Given the description of an element on the screen output the (x, y) to click on. 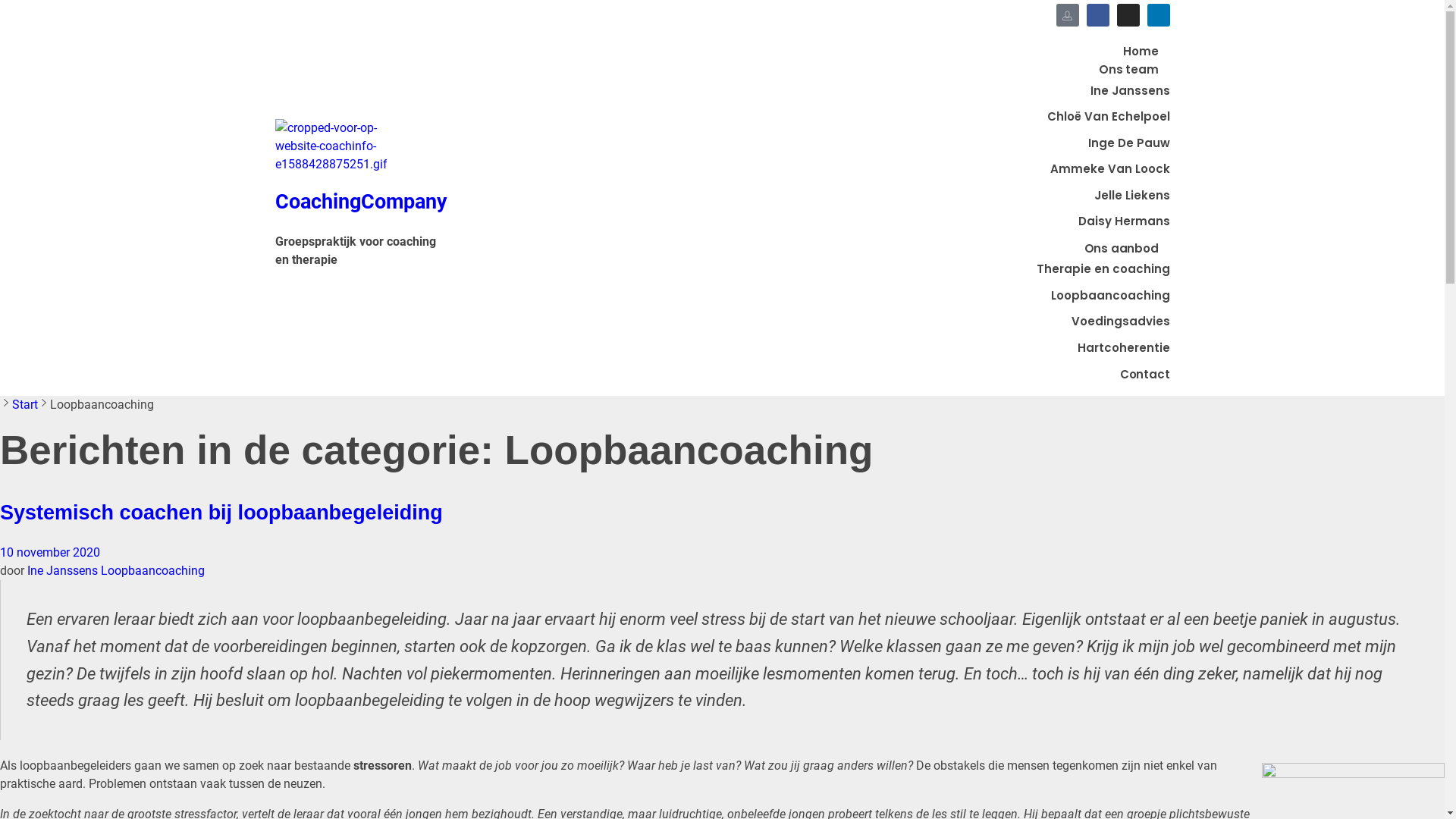
10 november 2020 Element type: text (50, 552)
Voedingsadvies Element type: text (1119, 321)
Hartcoherentie Element type: text (1122, 347)
CoachingCompany Element type: text (360, 201)
Home Element type: text (1146, 50)
Ons team Element type: text (1128, 69)
Start Element type: text (24, 404)
Systemisch coachen bij loopbaanbegeleiding Element type: text (221, 512)
Contact Element type: text (1139, 373)
Loopbaancoaching Element type: text (152, 570)
Inge De Pauw Element type: text (1128, 142)
Ons aanbod Element type: text (1120, 248)
CoachingCompany Element type: hover (361, 149)
Ine Janssens Element type: text (63, 570)
Therapie en coaching Element type: text (1102, 268)
Ine Janssens Element type: text (1130, 90)
Ammeke Van Loock Element type: text (1109, 168)
Jelle Liekens Element type: text (1131, 195)
Loopbaancoaching Element type: text (1110, 295)
Daisy Hermans Element type: text (1124, 221)
